Given the description of an element on the screen output the (x, y) to click on. 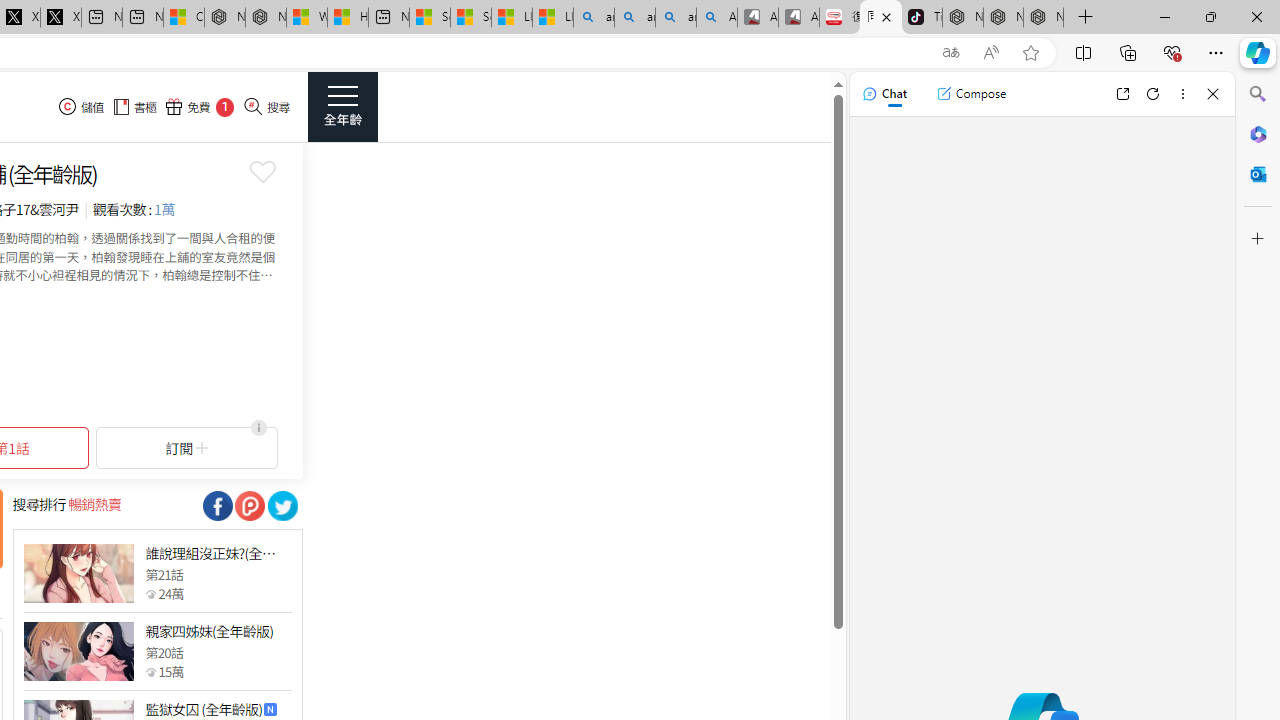
amazon - Search Images (675, 17)
Class: epicon_starpoint (150, 671)
Amazon Echo Robot - Search Images (717, 17)
